Given the description of an element on the screen output the (x, y) to click on. 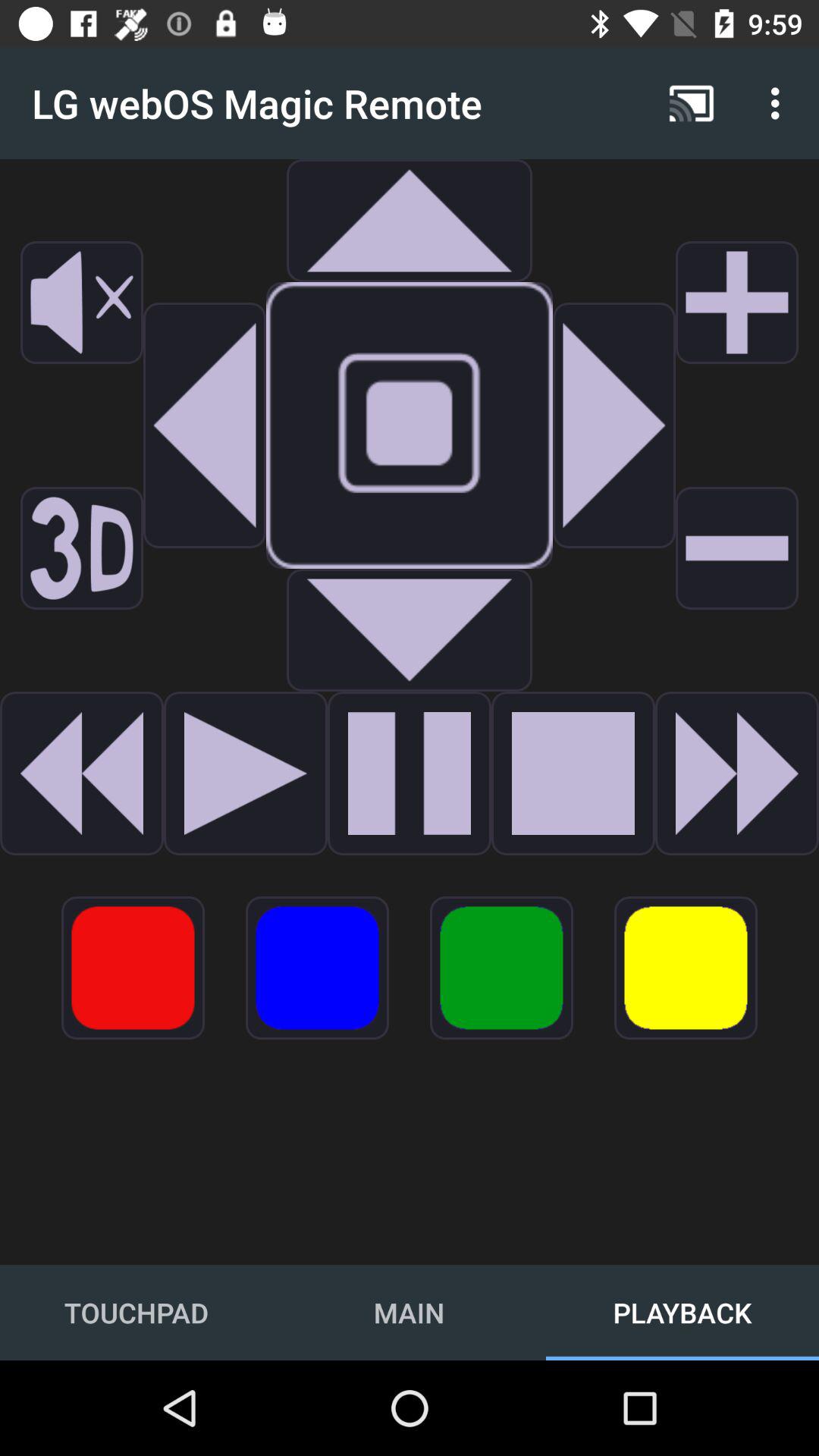
toggle multifunction button (501, 967)
